Given the description of an element on the screen output the (x, y) to click on. 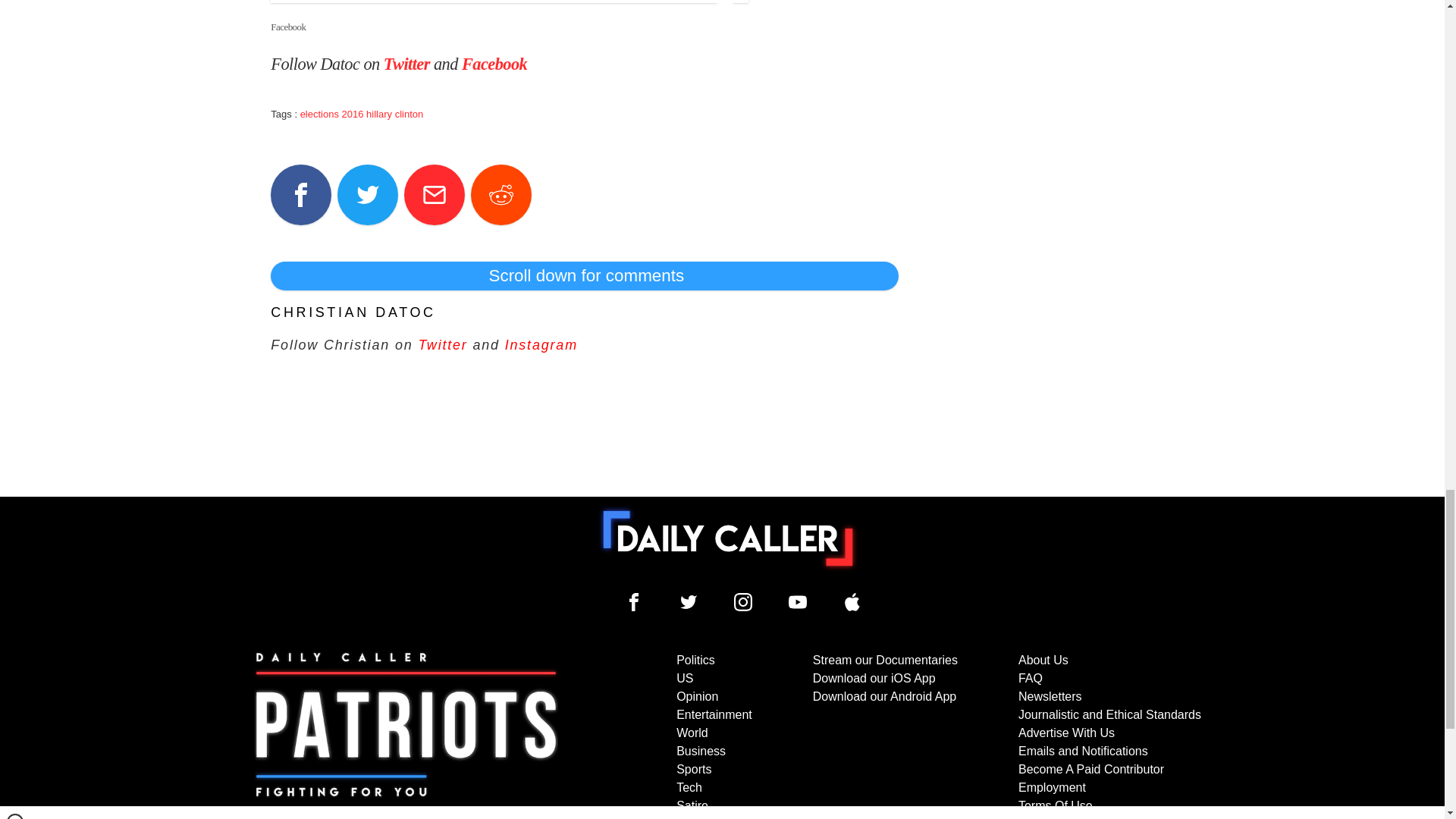
Daily Caller Facebook (633, 601)
Subscribe to The Daily Caller (405, 735)
To home page (727, 538)
Daily Caller Instagram (742, 601)
Scroll down for comments (584, 275)
Daily Caller Twitter (688, 601)
Daily Caller YouTube (797, 601)
Daily Caller YouTube (852, 601)
